Given the description of an element on the screen output the (x, y) to click on. 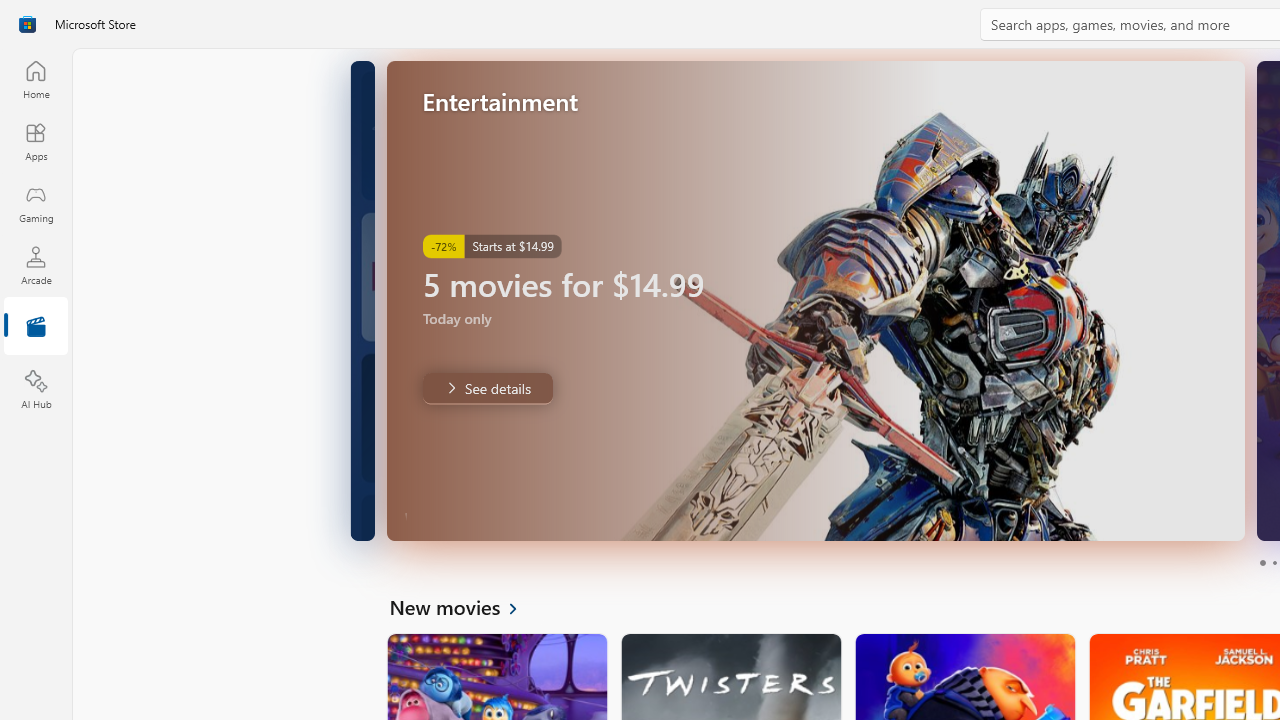
Play Trailer (1175, 512)
Page 1 (1261, 562)
Home (35, 79)
See all  New movies (464, 606)
Gaming (35, 203)
Entertainment (35, 327)
AutomationID: Image (815, 300)
Arcade (35, 265)
Apps (35, 141)
Page 2 (1274, 562)
AI Hub (35, 390)
Class: Image (27, 24)
Unmute (1215, 512)
